Given the description of an element on the screen output the (x, y) to click on. 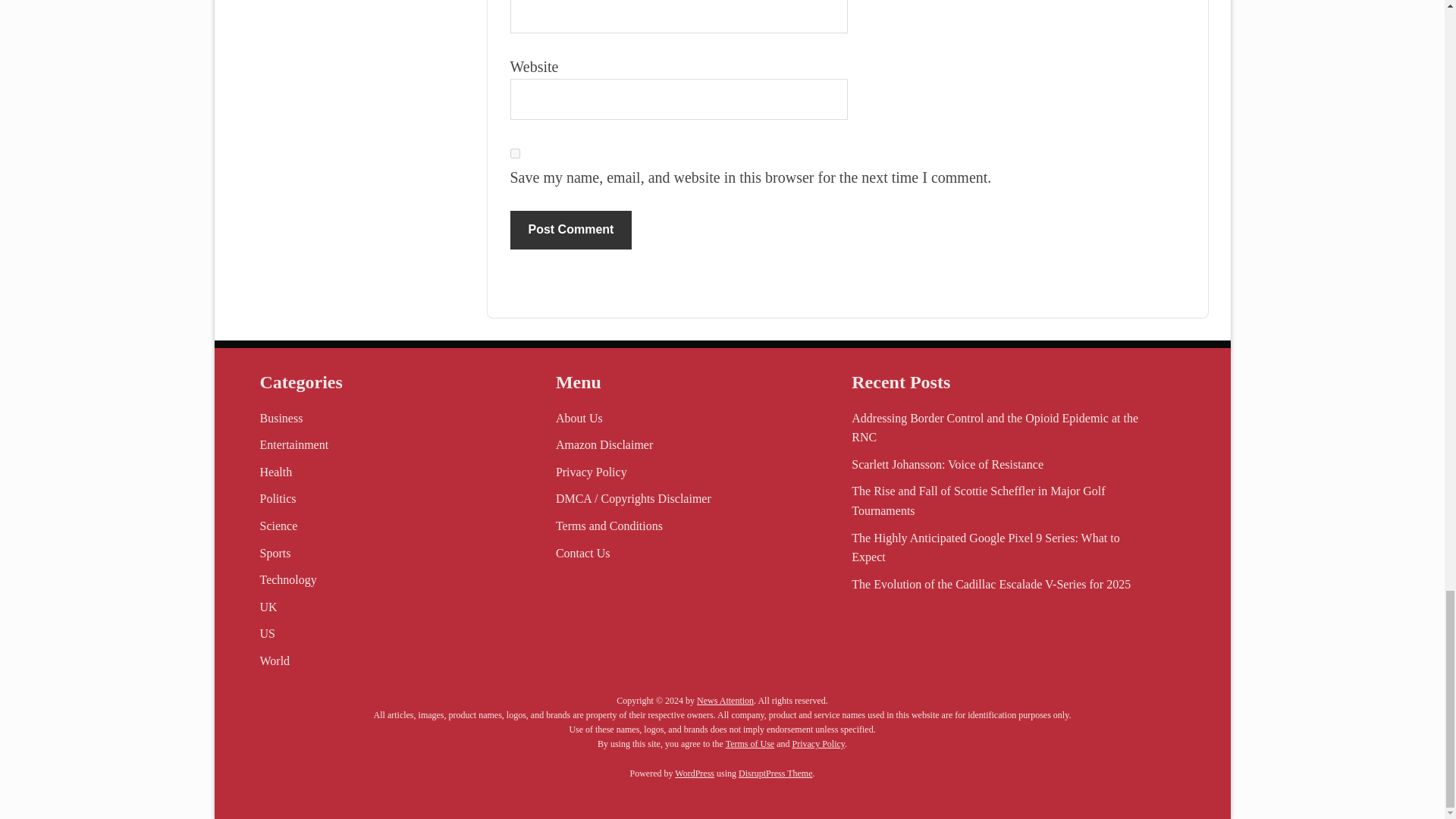
Post Comment (570, 229)
yes (514, 153)
